Given the description of an element on the screen output the (x, y) to click on. 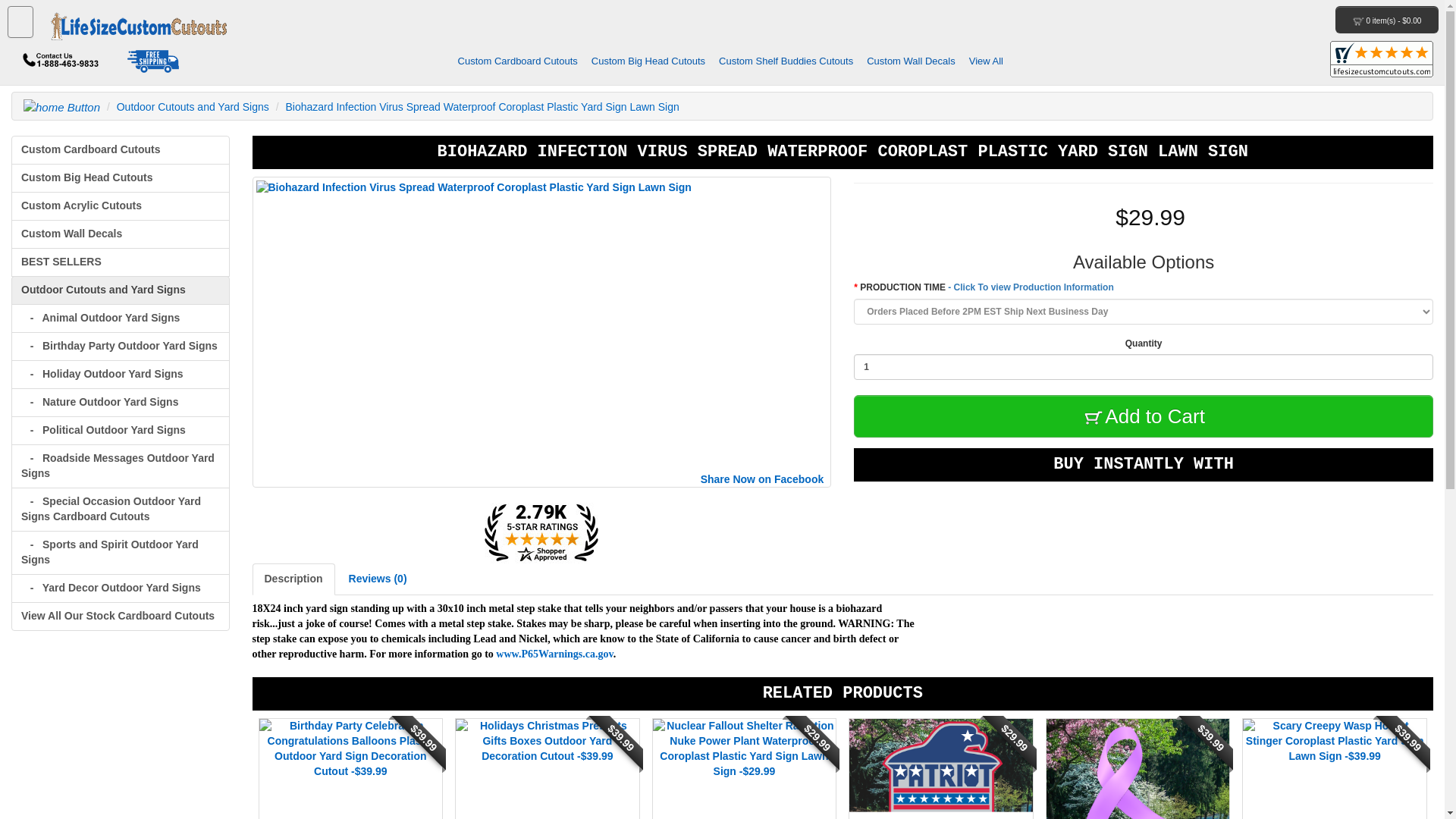
Custom Wall Decals (911, 61)
Custom Shelf Buddies Cutouts (785, 61)
Custom Big Head Cutouts (648, 61)
Custom Cardboard Cutouts (521, 61)
1 (1142, 366)
View All (986, 61)
